Given the description of an element on the screen output the (x, y) to click on. 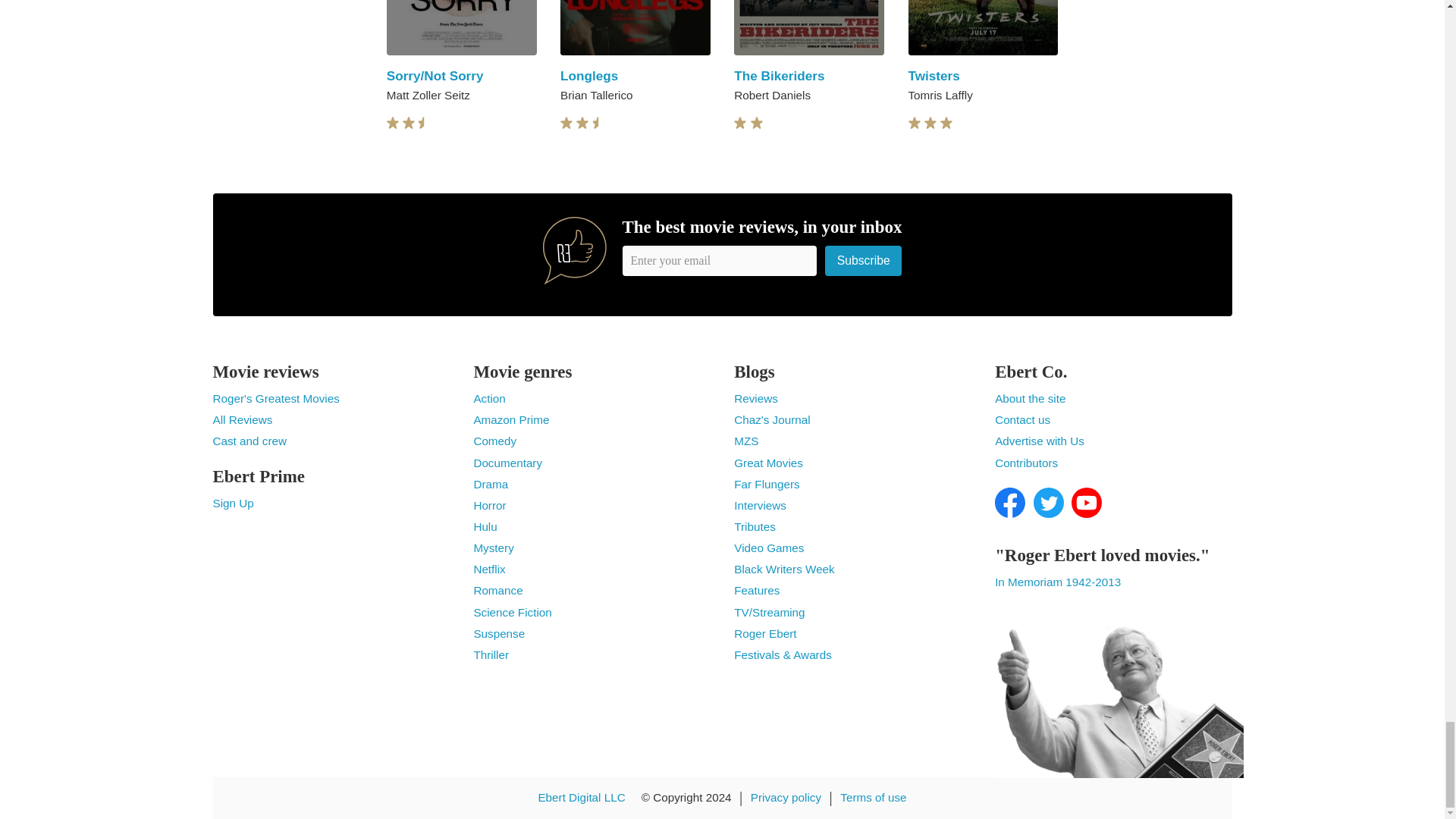
Subscribe (863, 260)
